Given the description of an element on the screen output the (x, y) to click on. 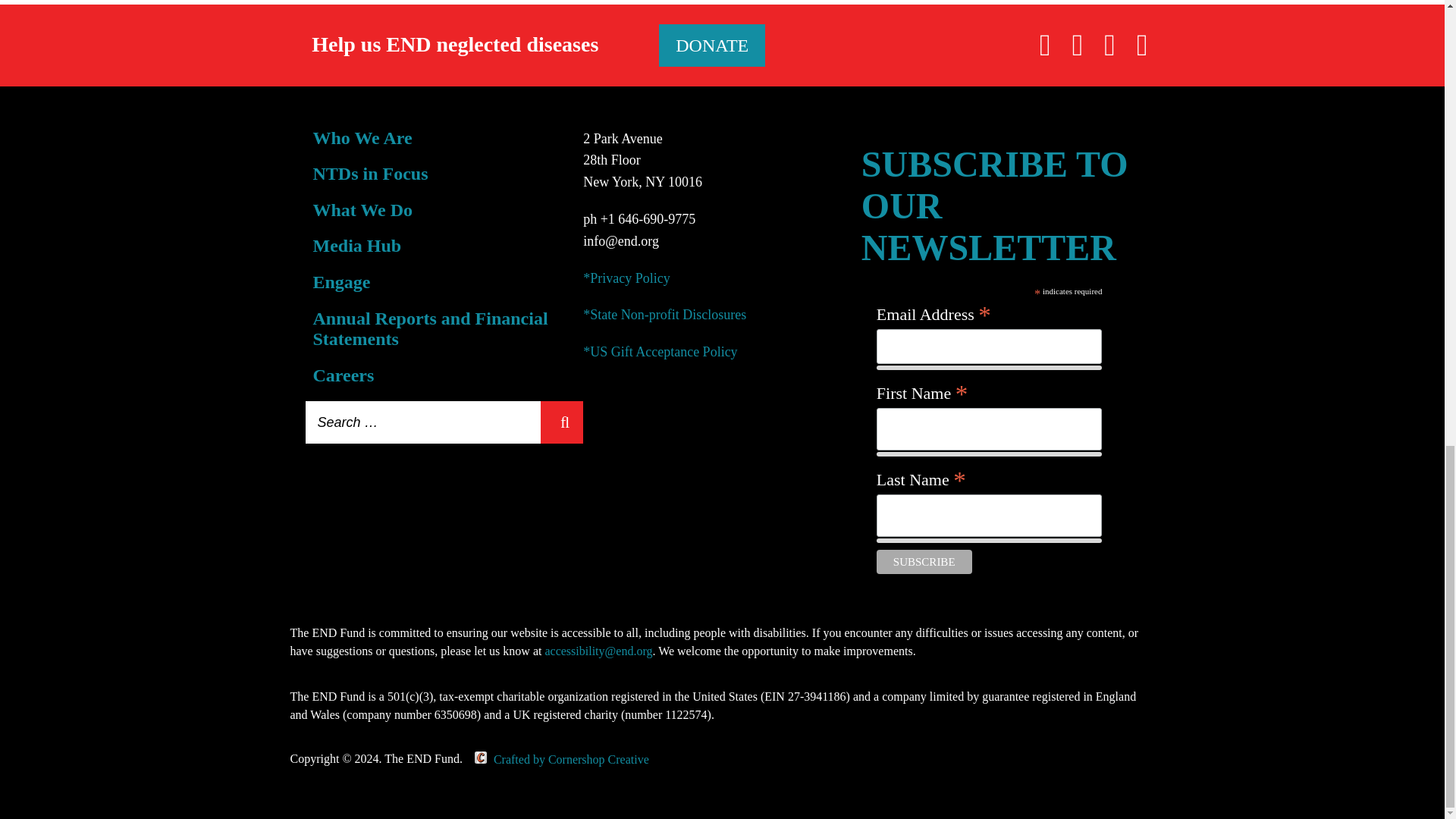
Subscribe (924, 561)
DONATE (712, 45)
Subscribe (924, 561)
Crafted by Cornershop Creative (556, 758)
Careers (343, 374)
Search (561, 422)
NTDs in Focus (370, 173)
What We Do (362, 209)
Engage (341, 281)
Media Hub (357, 245)
